Given the description of an element on the screen output the (x, y) to click on. 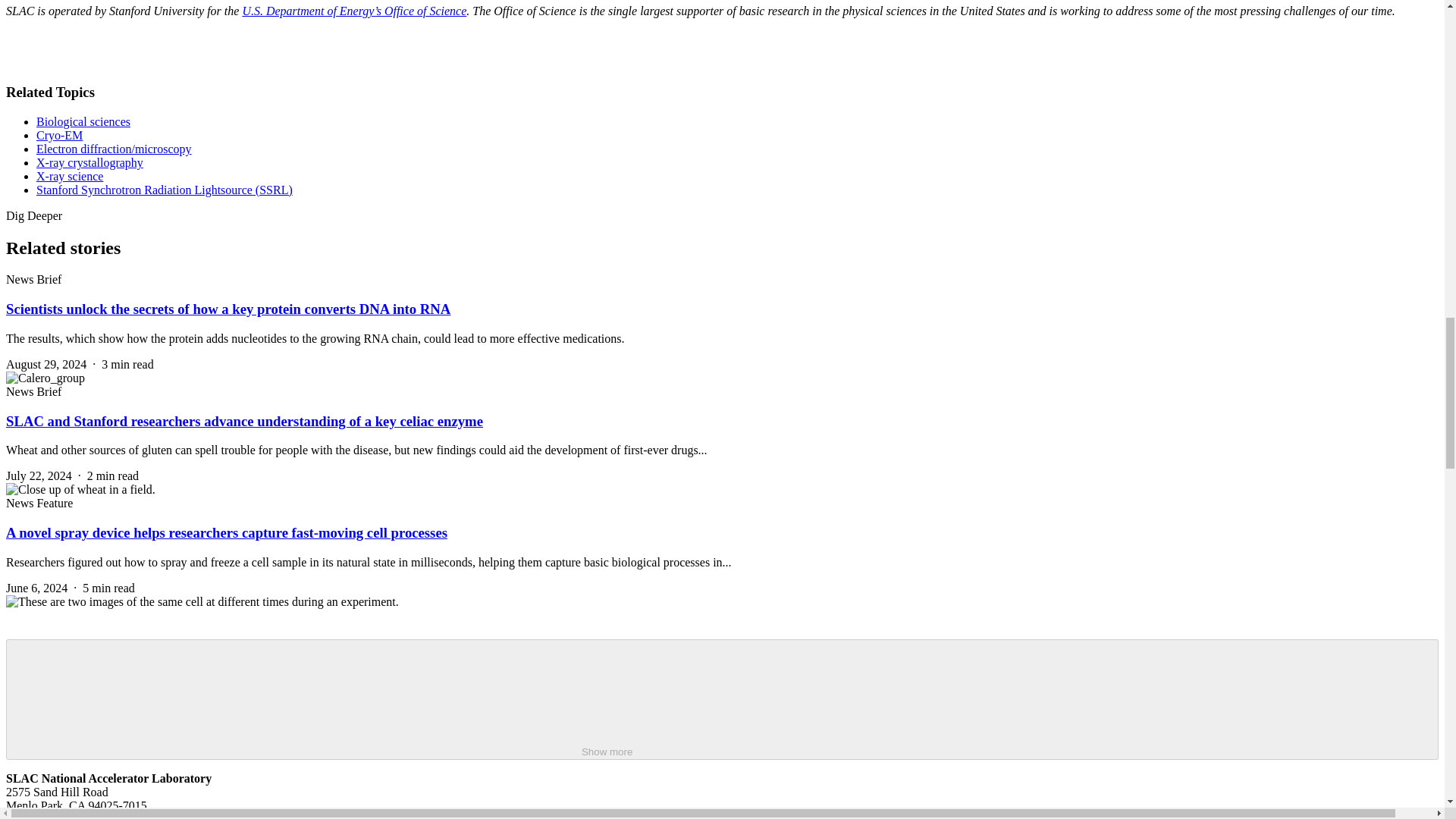
Cryo-EM (59, 134)
X-ray crystallography (89, 162)
X-ray science (69, 175)
Biological sciences (83, 121)
